Given the description of an element on the screen output the (x, y) to click on. 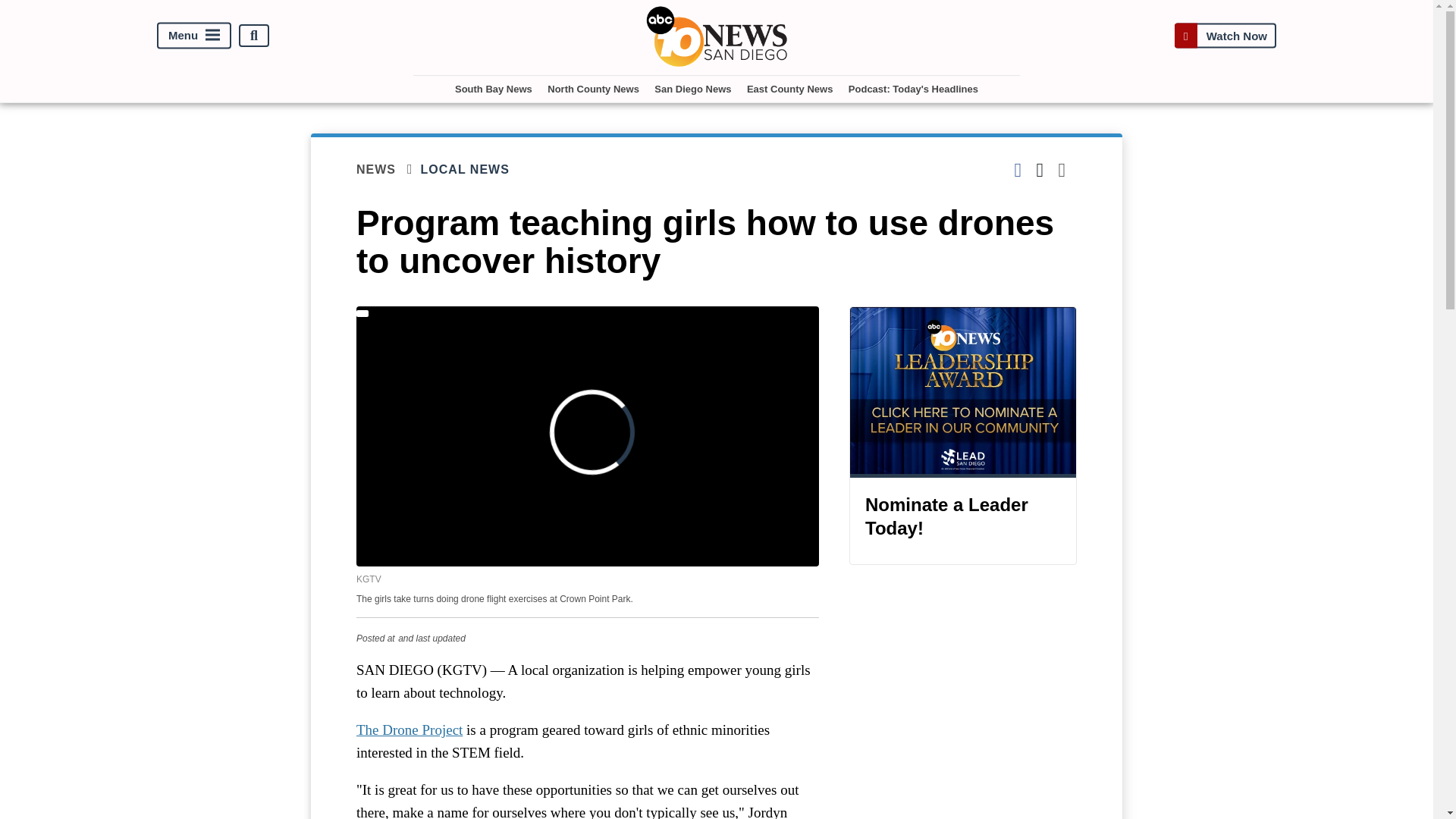
Menu (194, 35)
Watch Now (1224, 35)
